Given the description of an element on the screen output the (x, y) to click on. 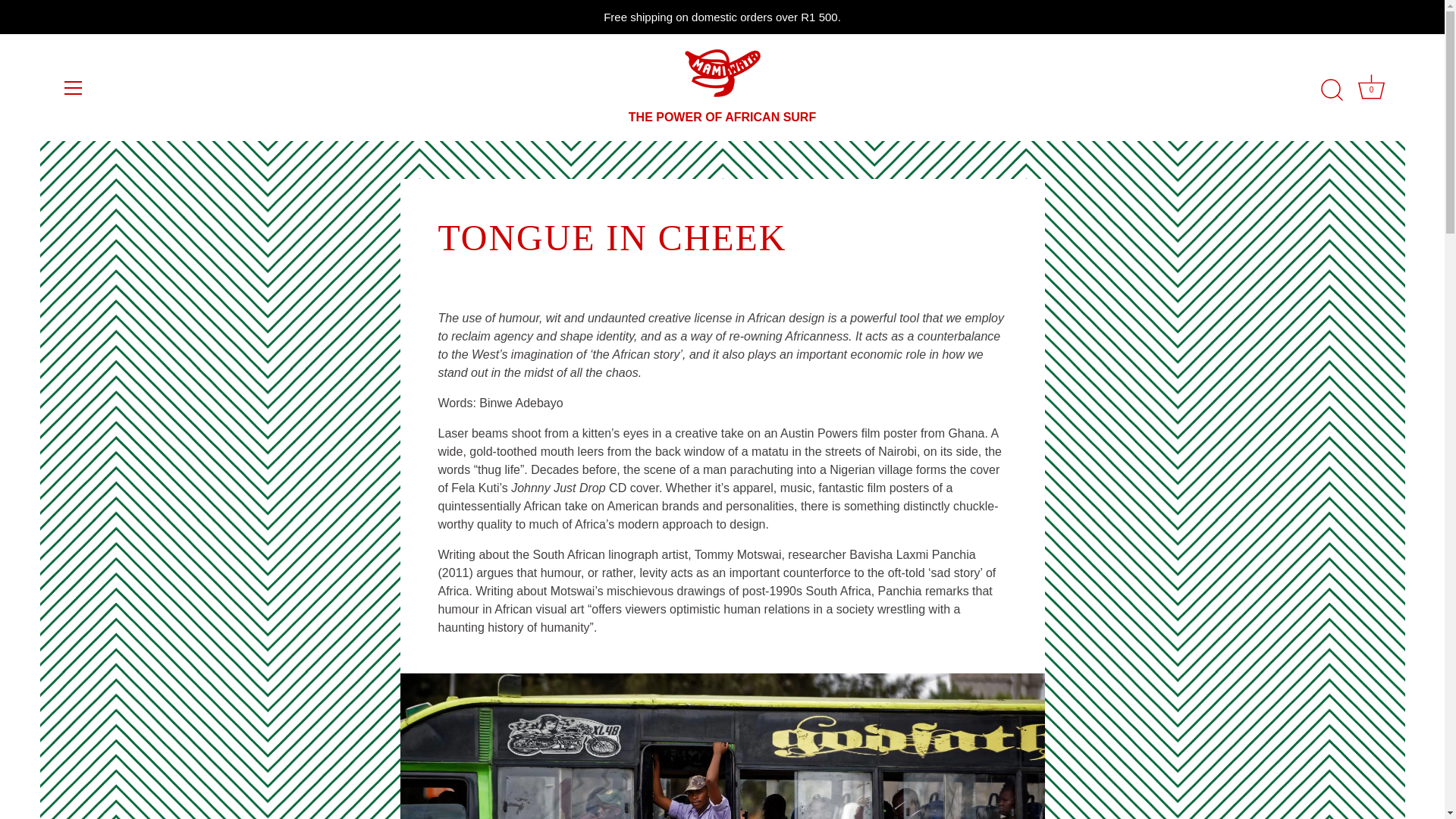
Cart (1370, 90)
THE POWER OF AFRICAN SURF (1371, 86)
